Given the description of an element on the screen output the (x, y) to click on. 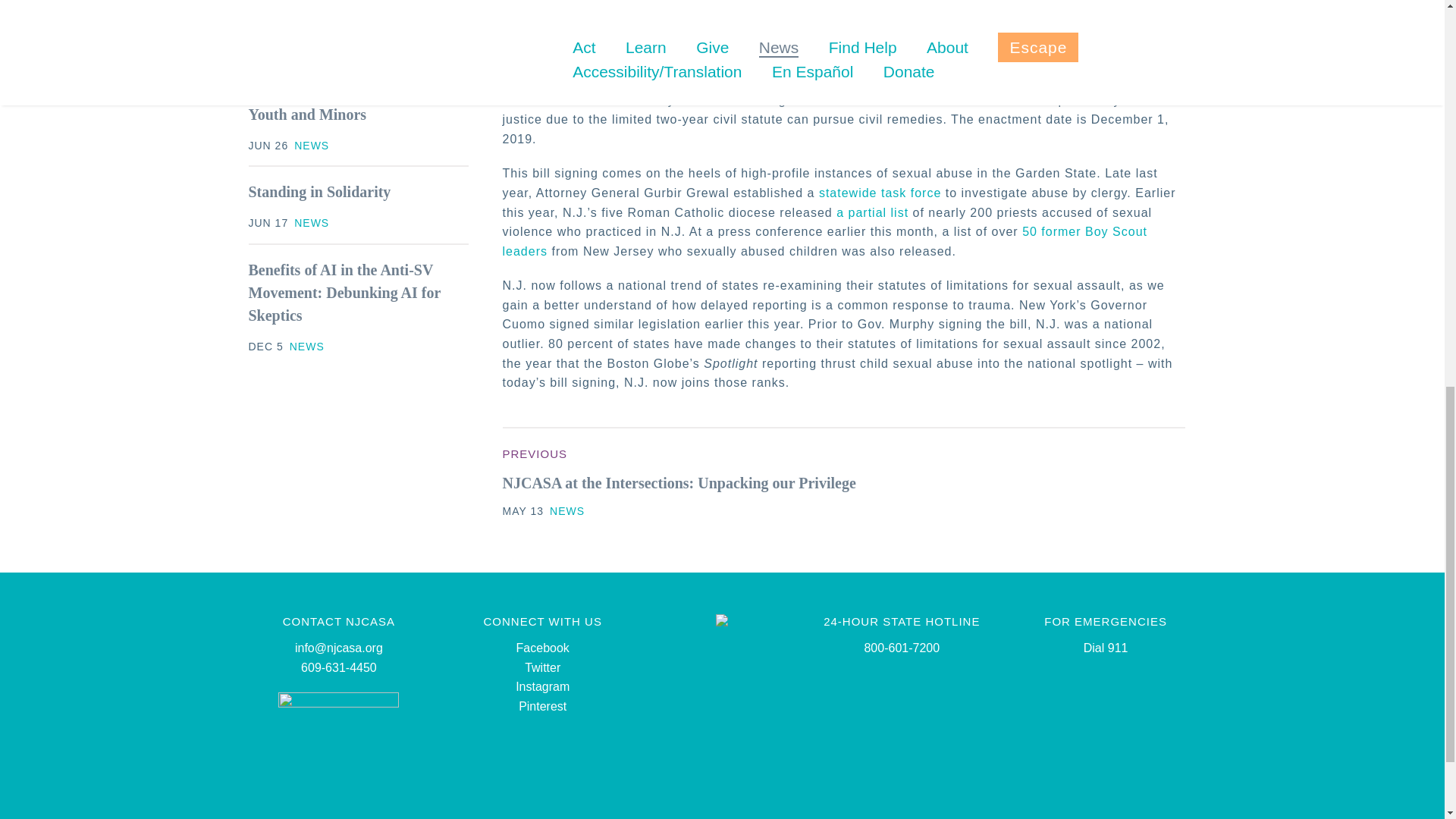
NEWS (567, 510)
NJCASA at the Intersections: Unpacking our Privilege (679, 483)
NEWS (311, 223)
Standing in Solidarity (319, 191)
NEWS (306, 346)
a partial list (871, 212)
NEWS (311, 145)
statewide task force (879, 192)
50 former Boy Scout leaders (824, 241)
